Given the description of an element on the screen output the (x, y) to click on. 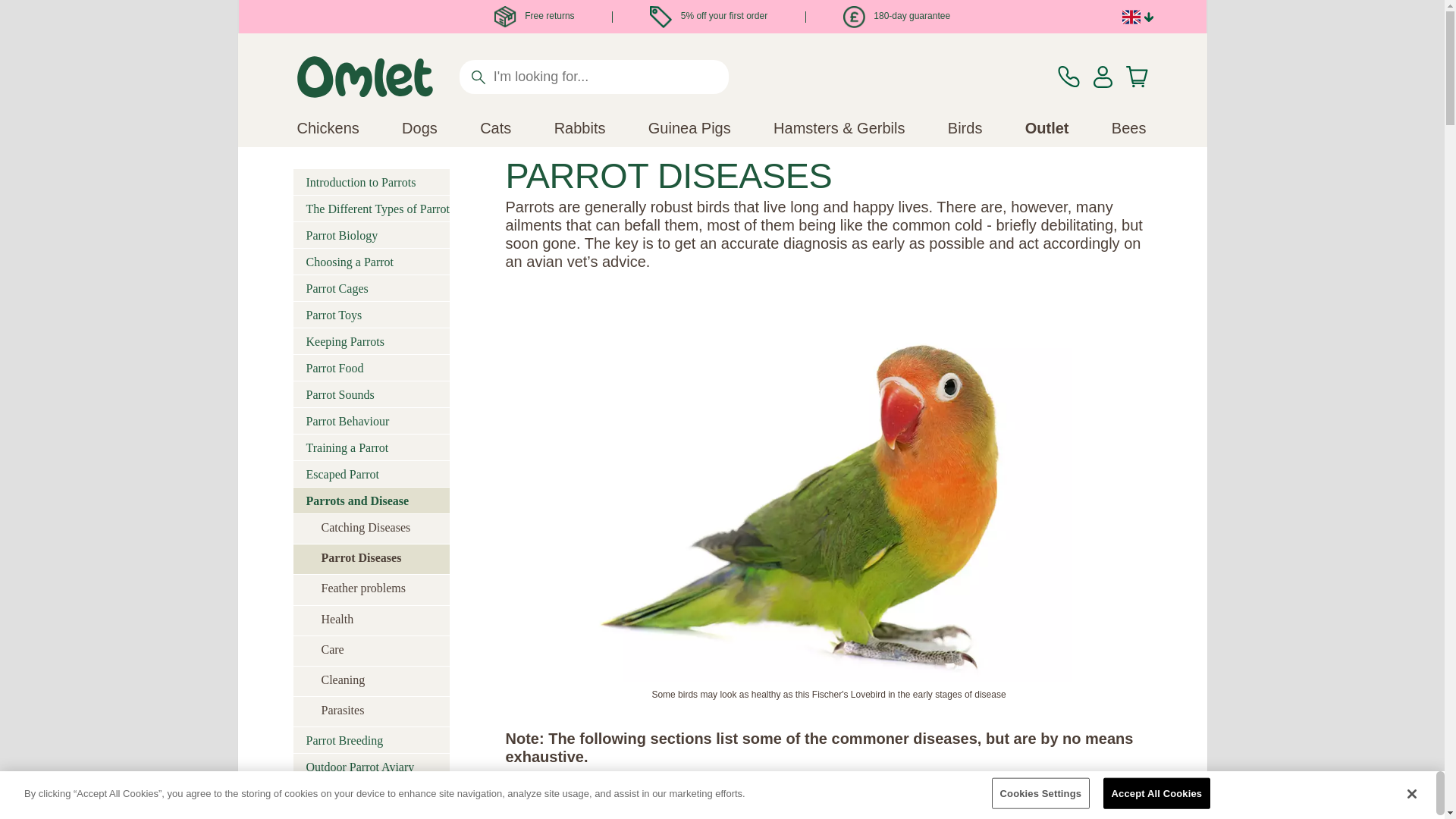
Accept All Cookies (1157, 793)
shipping (505, 16)
Contact us (1067, 76)
discount icon (660, 16)
returns icon (853, 16)
Chickens (328, 127)
United Kingdom (1131, 17)
Cookies Settings (1040, 793)
180-day guarantee (896, 15)
Free returns (535, 15)
Omlet (364, 76)
